Given the description of an element on the screen output the (x, y) to click on. 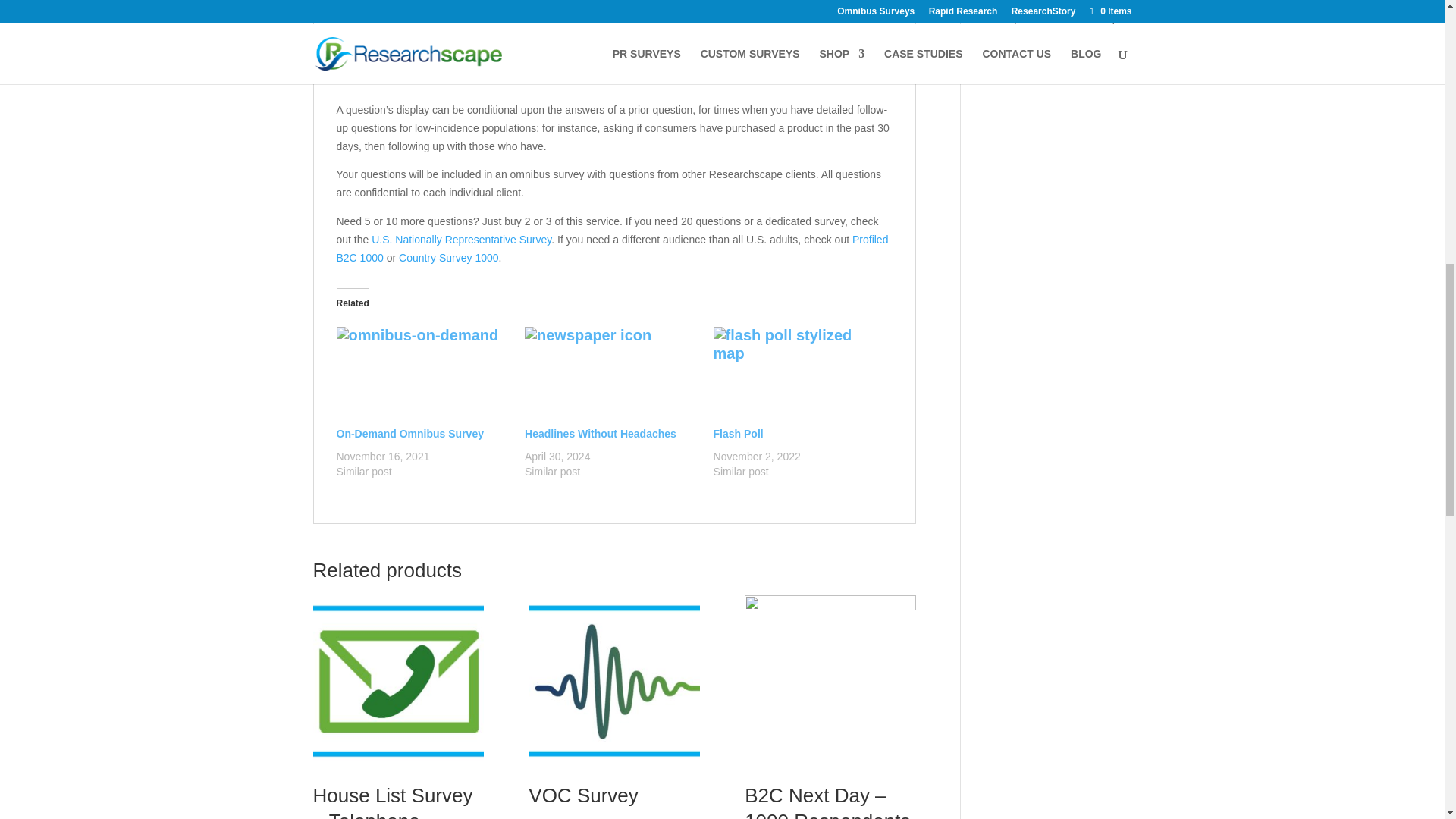
Flash Poll (737, 433)
Headlines Without Headaches (611, 375)
Headlines Without Headaches (600, 433)
Flash Poll (799, 375)
On-Demand Omnibus Survey (423, 375)
On-Demand Omnibus Survey (409, 433)
